Given the description of an element on the screen output the (x, y) to click on. 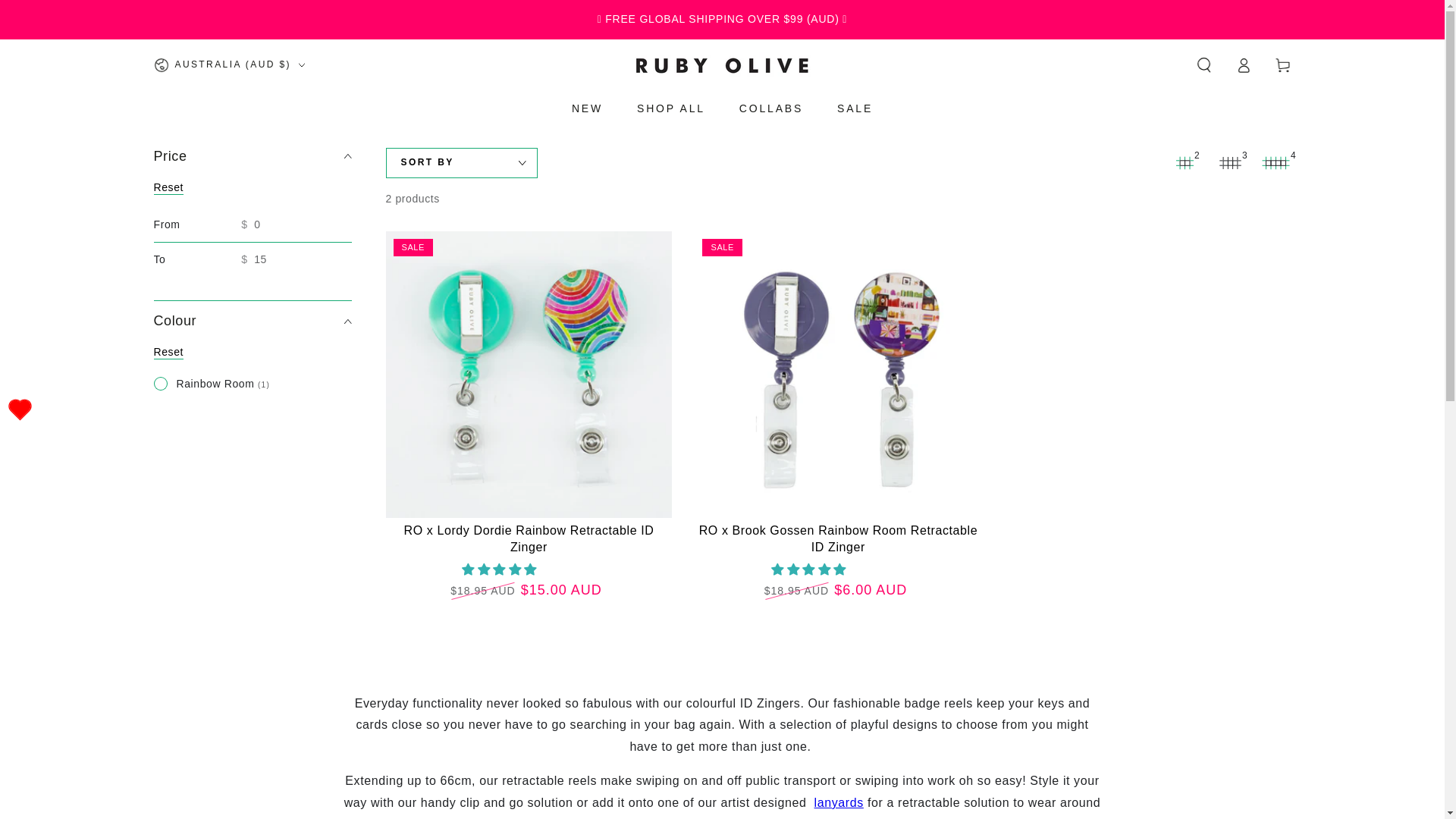
SKIP TO CONTENT (67, 14)
Wishlist (19, 409)
Rainbow Room (210, 383)
